Given the description of an element on the screen output the (x, y) to click on. 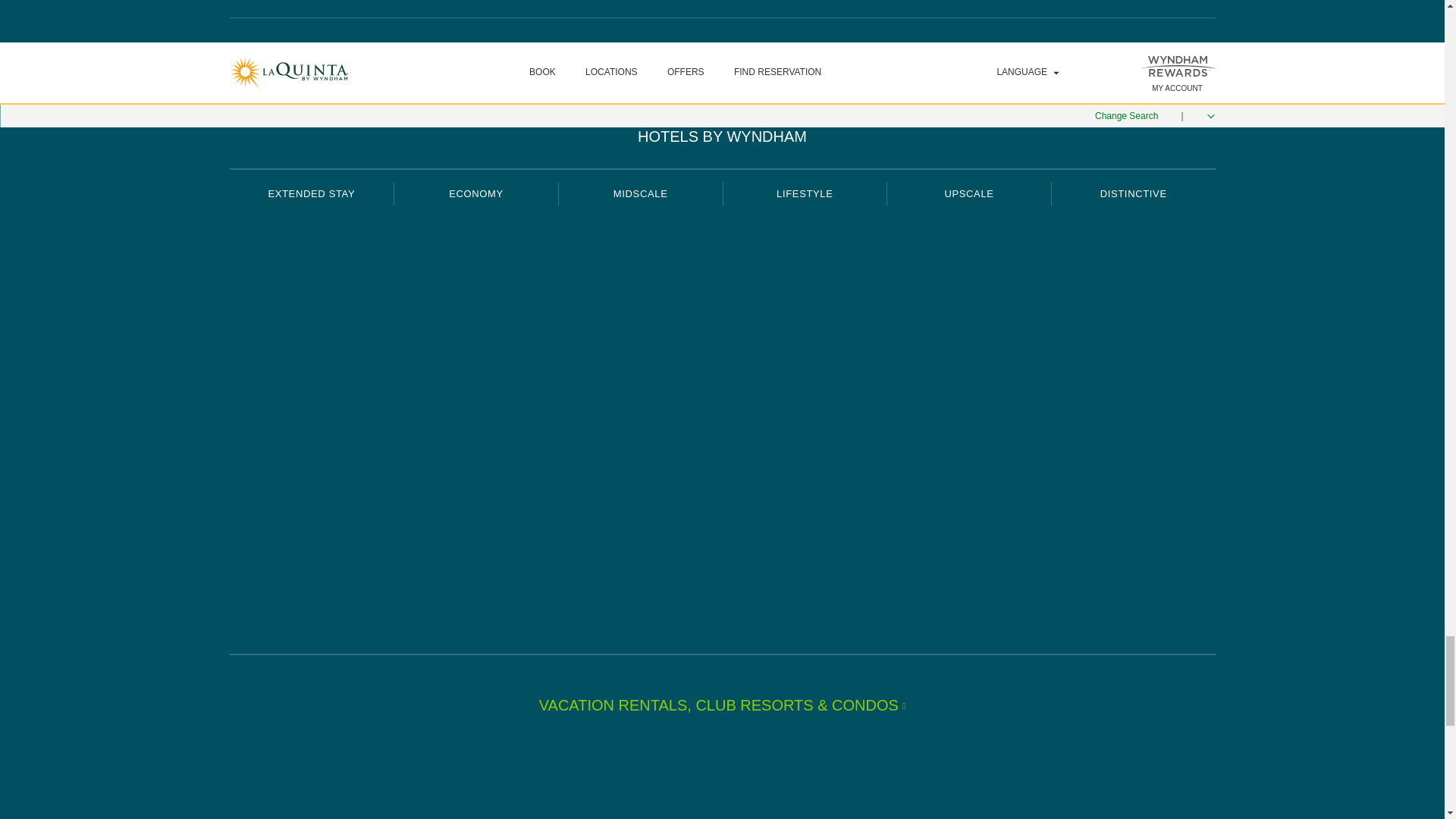
Howard Johnson (475, 413)
Dazzler Hotels (803, 357)
Ramada Worldwide (640, 524)
Days Inn (475, 247)
Esplendor by Wyndham (803, 301)
Wyndham Garden (640, 359)
Super 8 (475, 301)
Travelodge (475, 469)
Hawthorn Suites by Wyndham (311, 246)
Baymont (640, 467)
Howard Johnson (475, 411)
Microtel by Wyndham (475, 357)
Travelodge (475, 467)
Ramada Ecore (640, 580)
La Quinta (640, 246)
